Given the description of an element on the screen output the (x, y) to click on. 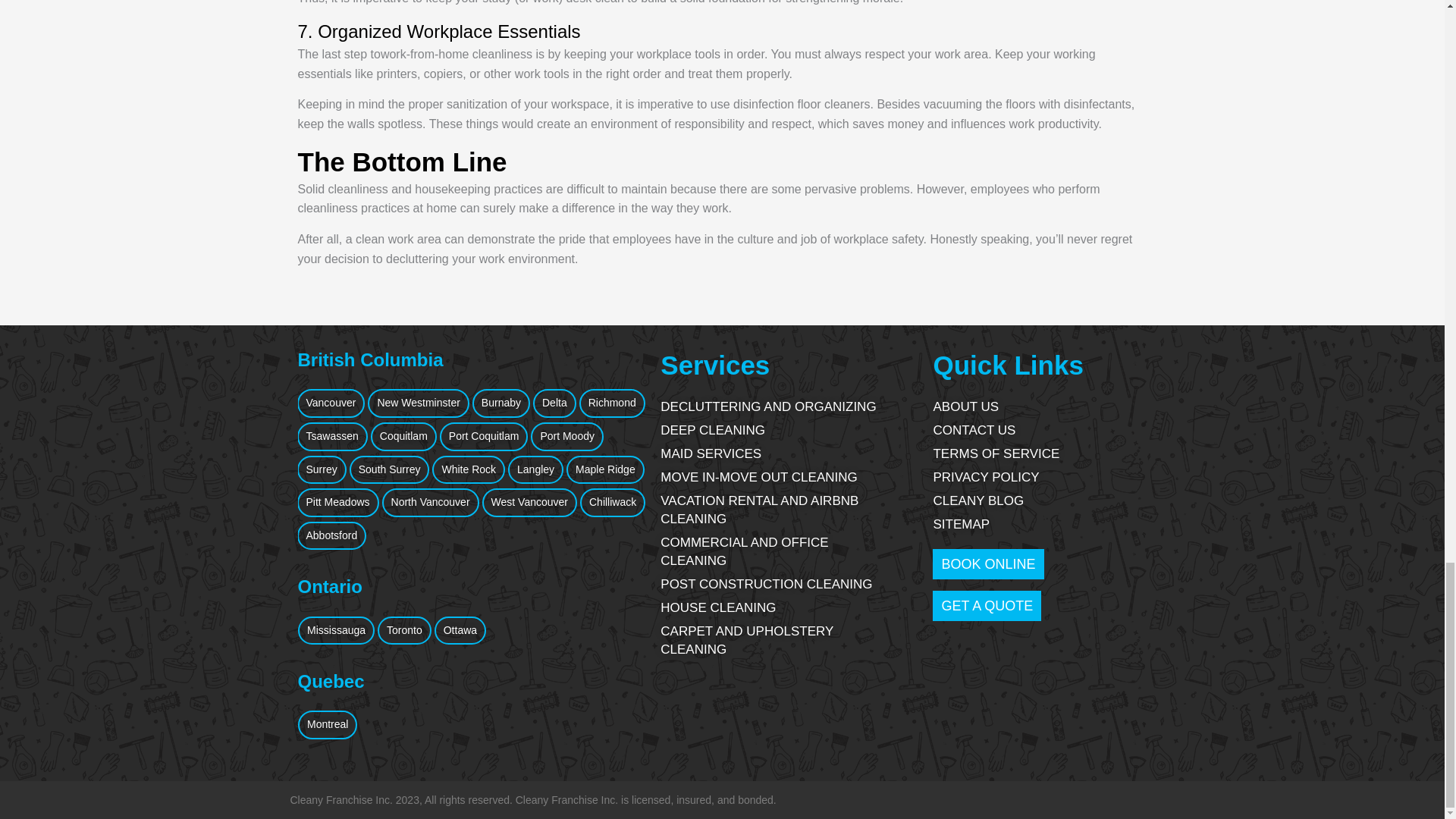
Coquitlam (403, 436)
Langley (535, 469)
New Westminster (418, 403)
Burnaby (500, 403)
Port Moody (567, 436)
Surrey (321, 469)
Pitt Meadows (337, 502)
Richmond (612, 403)
Tsawassen (332, 436)
South Surrey (389, 469)
Vancouver (331, 403)
Delta (554, 403)
Maple Ridge (605, 469)
Port Coquitlam (483, 436)
White Rock (468, 469)
